Given the description of an element on the screen output the (x, y) to click on. 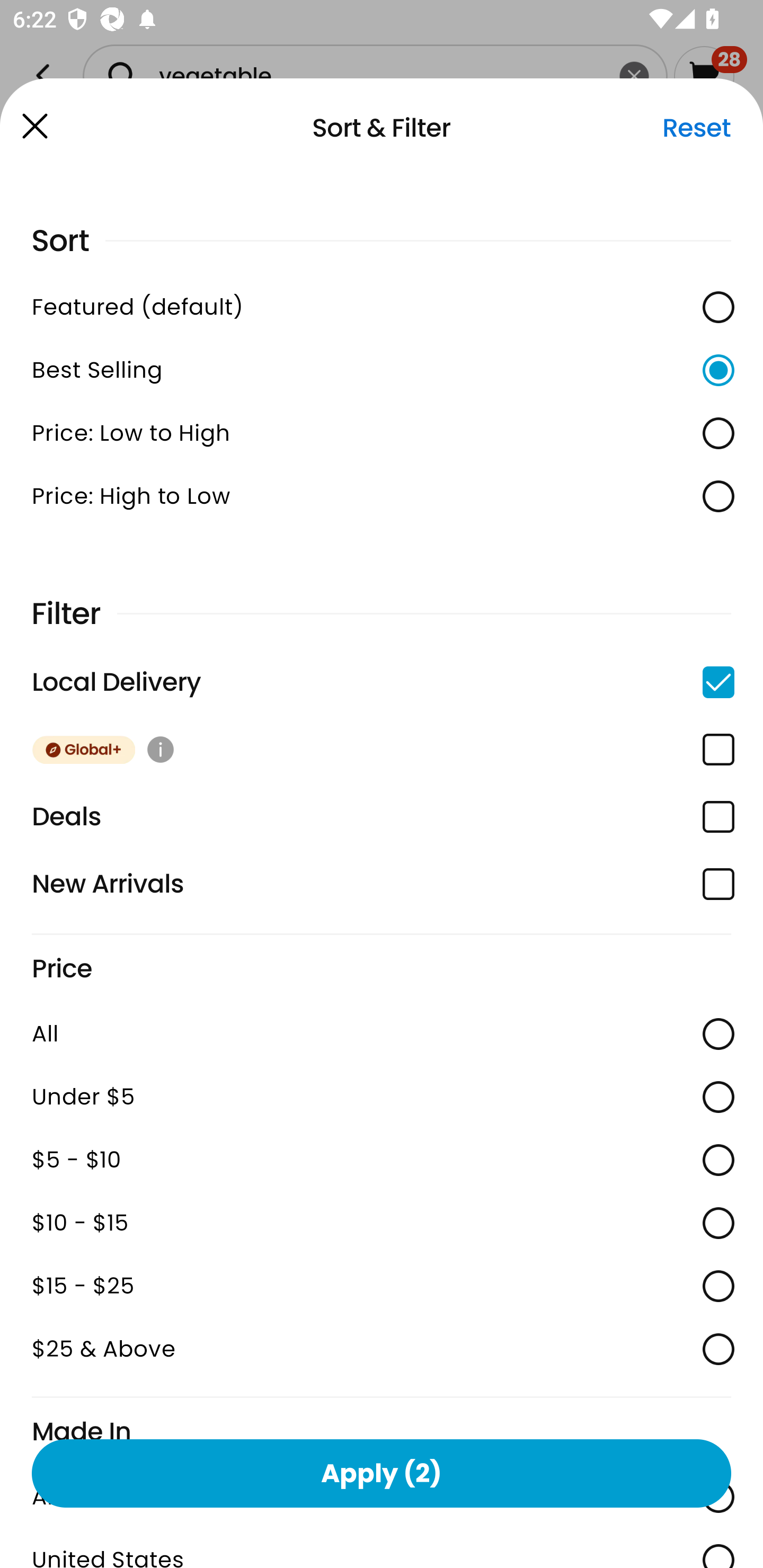
Reset (696, 127)
Apply (2) (381, 1472)
